Given the description of an element on the screen output the (x, y) to click on. 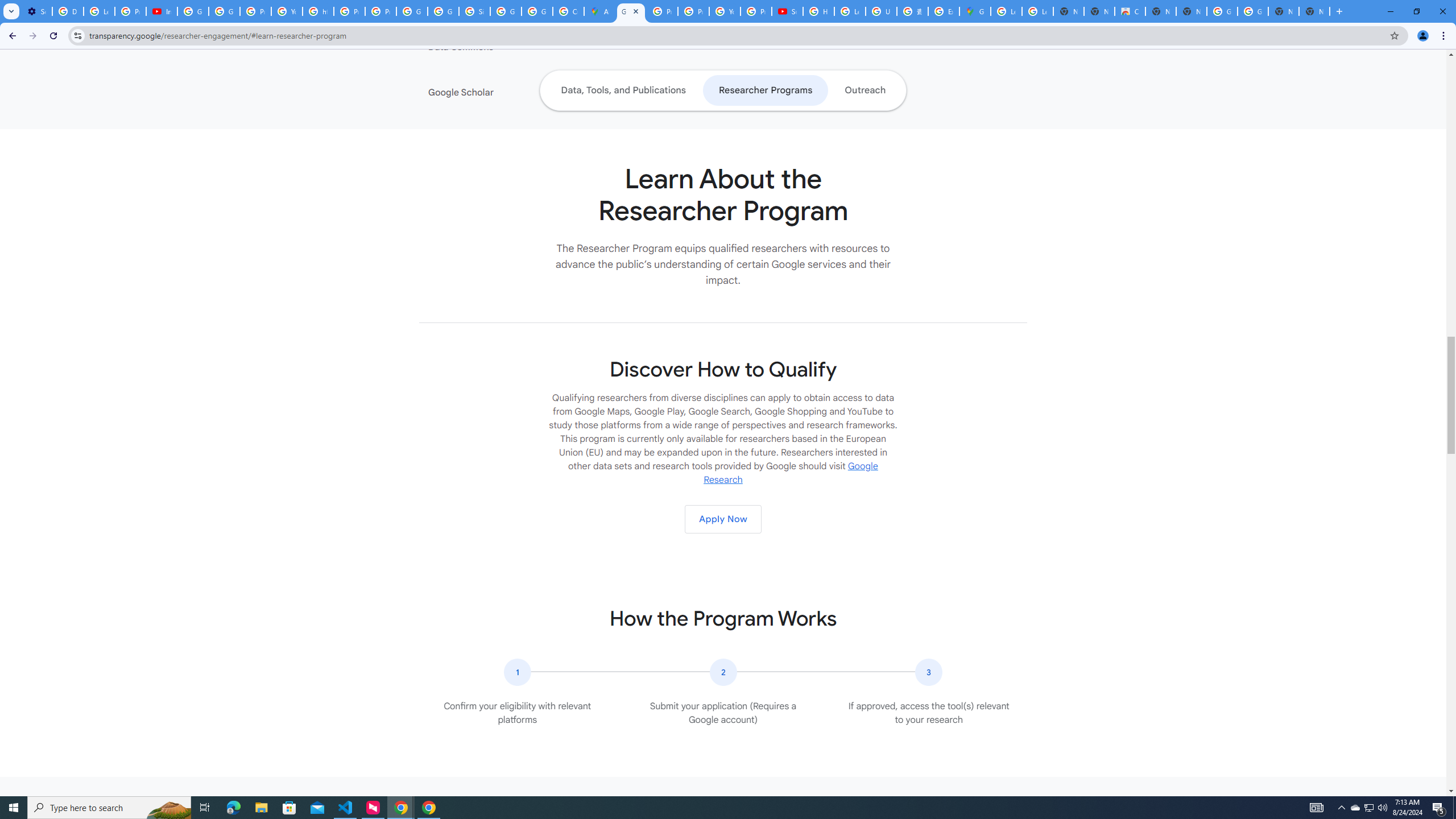
Google Account Help (192, 11)
Chrome Web Store (1129, 11)
How Chrome protects your passwords - Google Chrome Help (818, 11)
Sign in - Google Accounts (474, 11)
Researcher Programs (764, 90)
Google Images (1252, 11)
Data, Tools, and Publications (622, 90)
Outreach (865, 90)
Google Images (1222, 11)
